Given the description of an element on the screen output the (x, y) to click on. 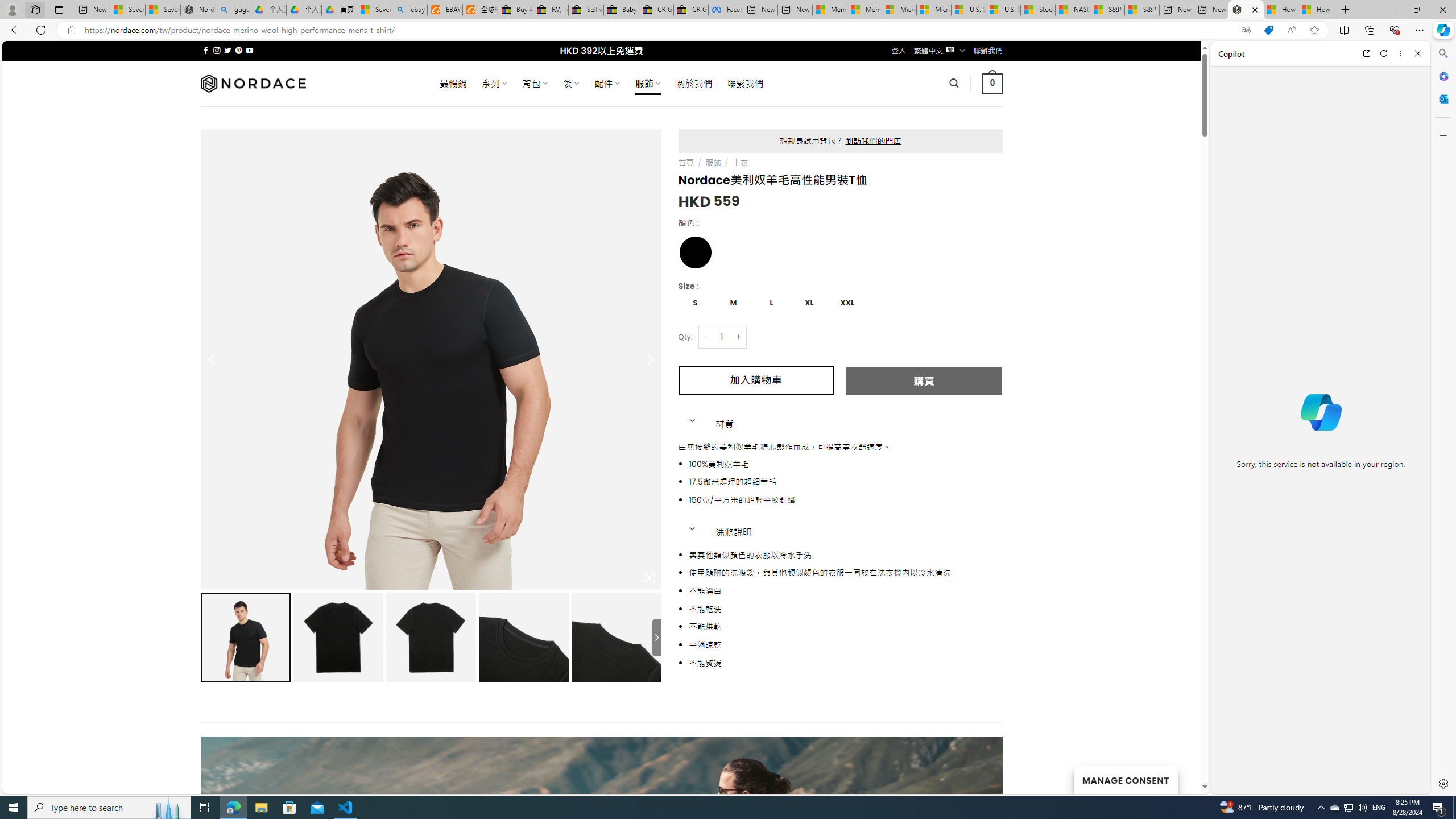
Follow on Instagram (216, 50)
Sell worldwide with eBay (585, 9)
More options (1401, 53)
ebay - Search (409, 9)
S&P 500, Nasdaq end lower, weighed by Nvidia dip | Watch (1141, 9)
